Given the description of an element on the screen output the (x, y) to click on. 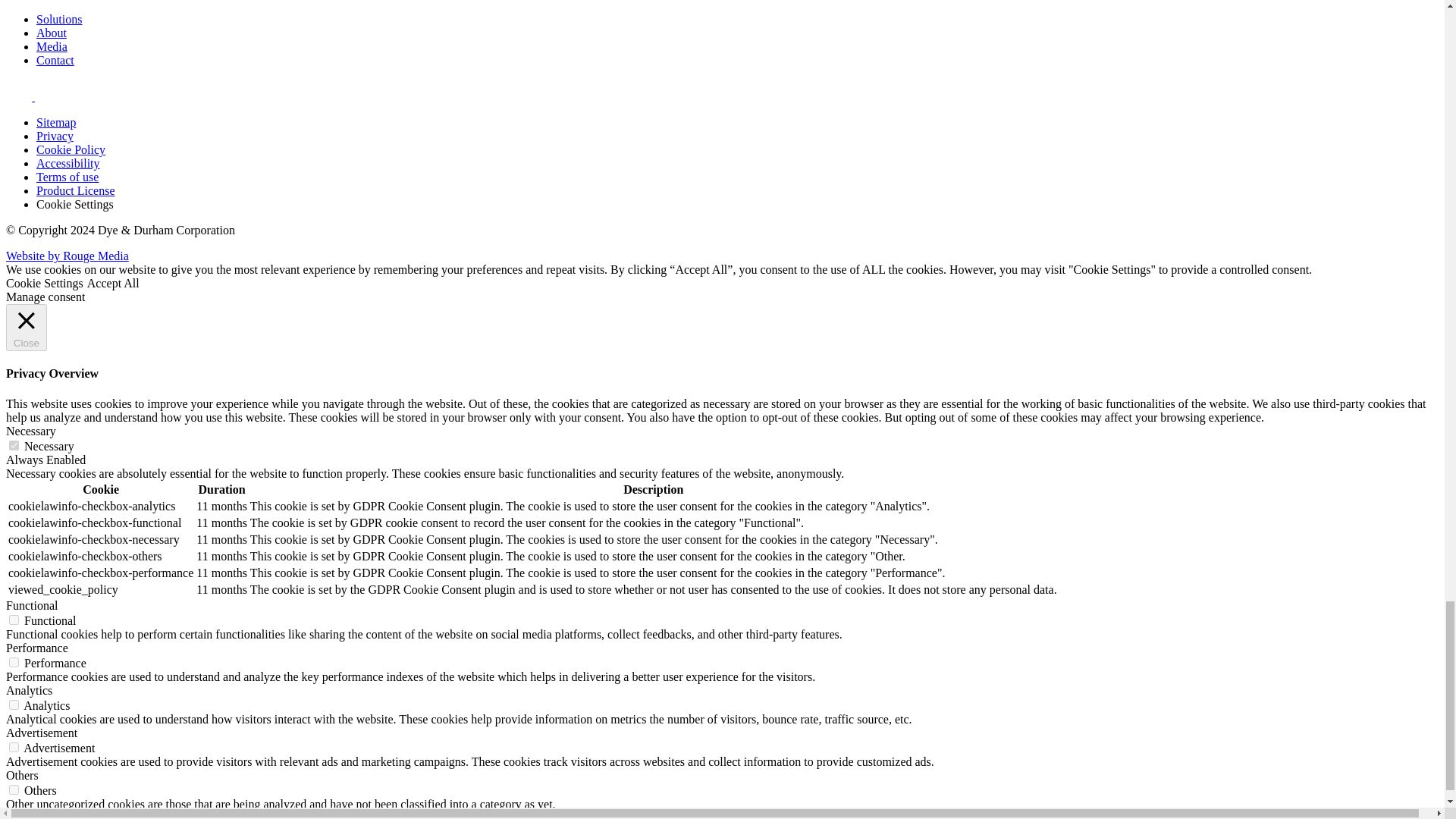
on (13, 619)
on (13, 445)
on (13, 662)
on (13, 705)
on (13, 789)
on (13, 747)
